Given the description of an element on the screen output the (x, y) to click on. 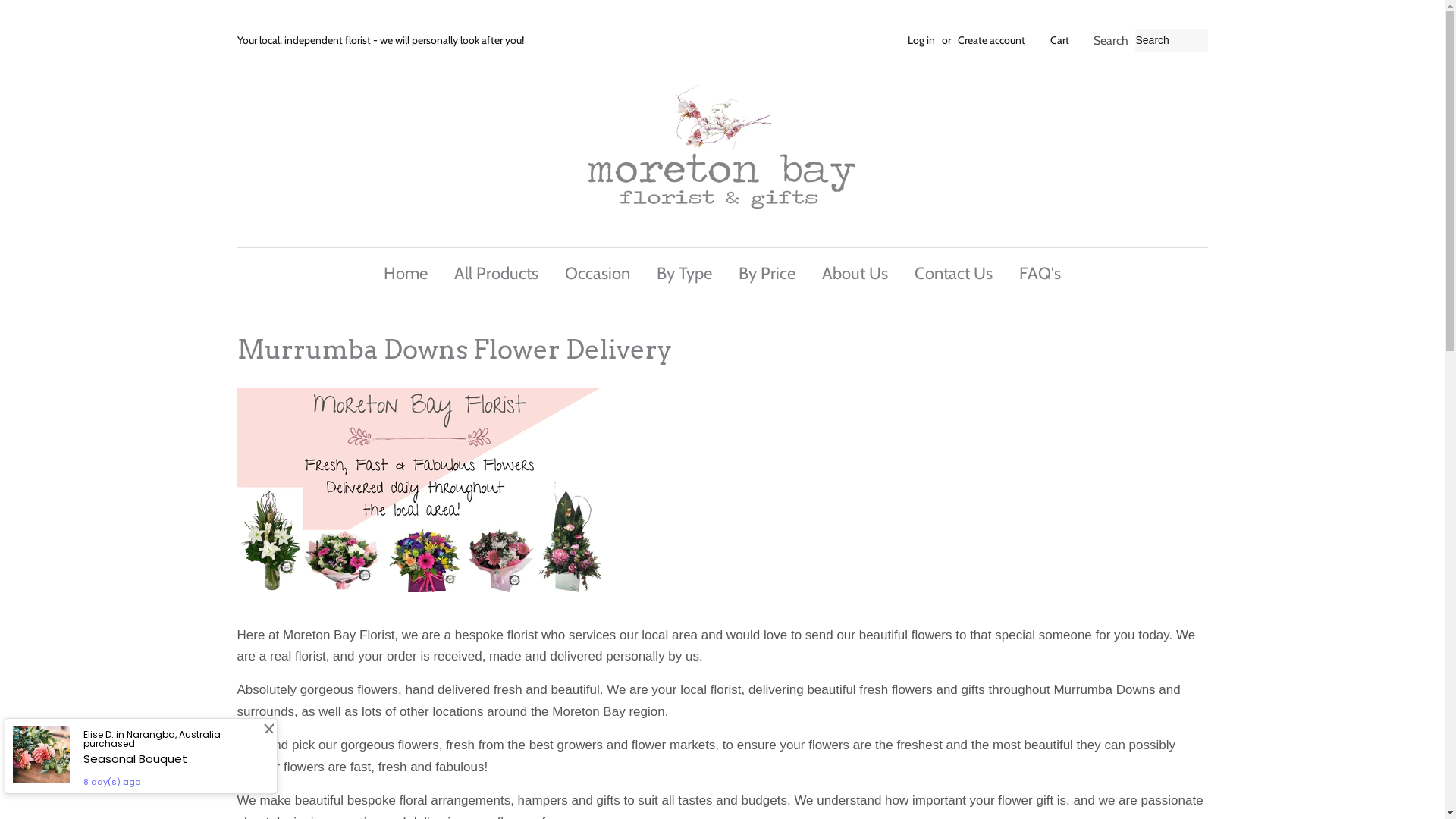
Create account Element type: text (990, 40)
By Type Element type: text (684, 272)
Occasion Element type: text (597, 272)
FAQ's Element type: text (1033, 272)
Home Element type: text (411, 272)
Log in Element type: text (920, 40)
All Products Element type: text (495, 272)
Contact Us Element type: text (953, 272)
By Price Element type: text (766, 272)
About Us Element type: text (854, 272)
Search Element type: text (1109, 40)
Cart Element type: text (1058, 40)
